Given the description of an element on the screen output the (x, y) to click on. 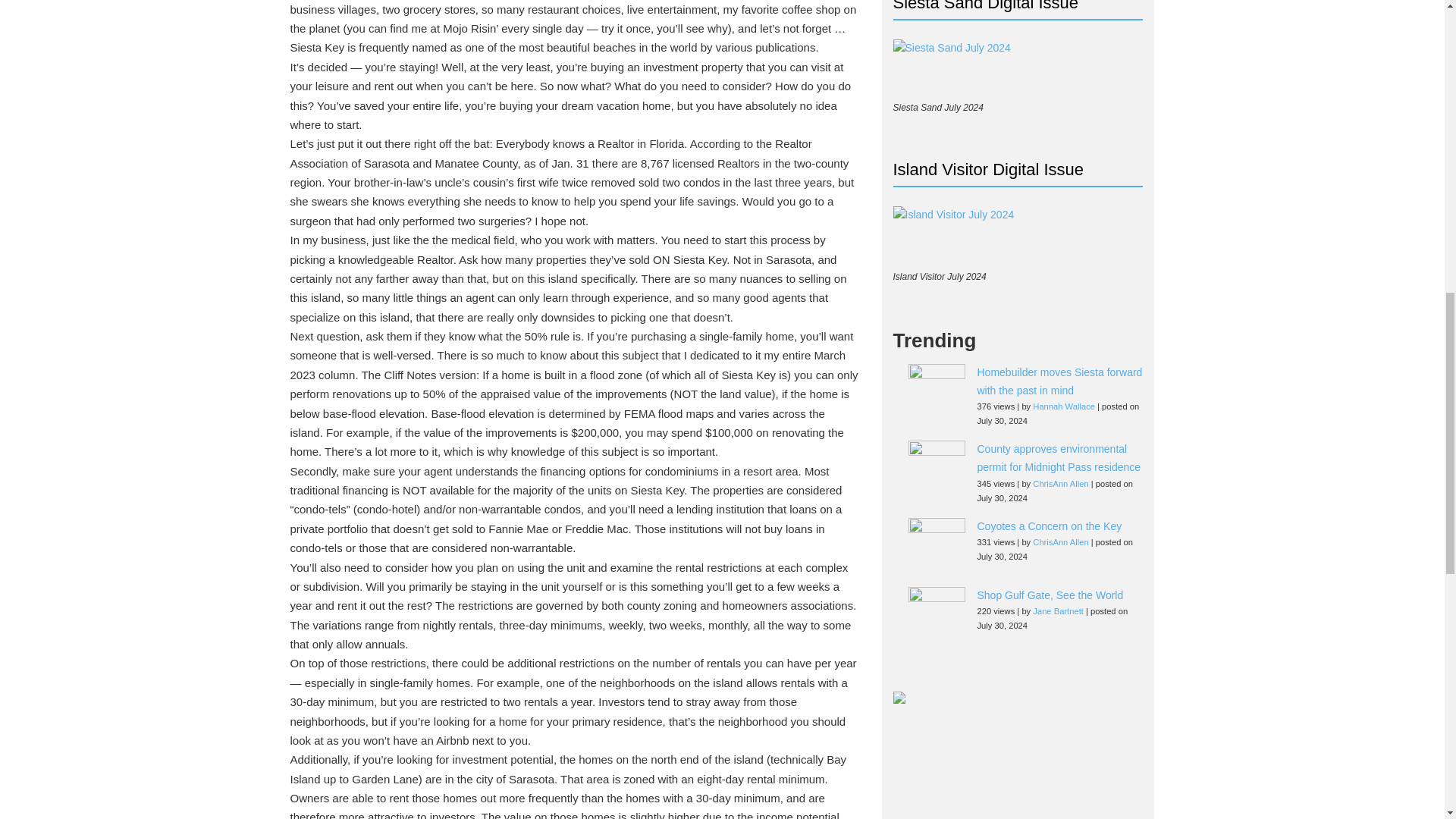
YouTube video player (1017, 779)
Island Visitor Digital Issue (953, 235)
Siesta Sand Digital Issue (951, 67)
